Given the description of an element on the screen output the (x, y) to click on. 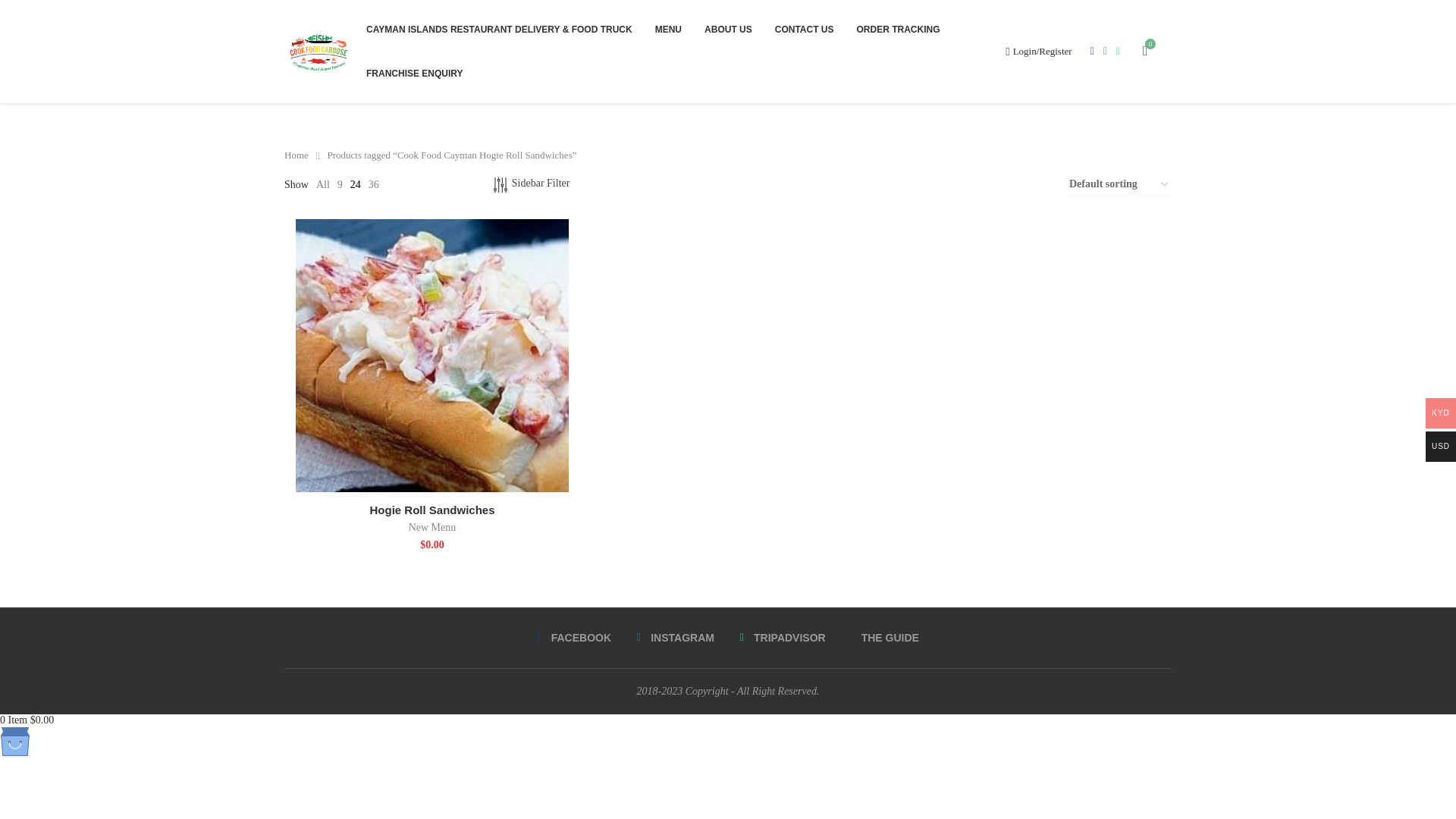
Sidebar Filter (531, 184)
0 (1145, 51)
ABOUT US (728, 29)
Show 3 columns (424, 184)
ORDER TRACKING (898, 29)
CONTACT US (804, 29)
FRANCHISE ENQUIRY (414, 73)
Show 2 columns (401, 184)
View your shopping cart (1145, 51)
Show 4 columns (446, 184)
